Given the description of an element on the screen output the (x, y) to click on. 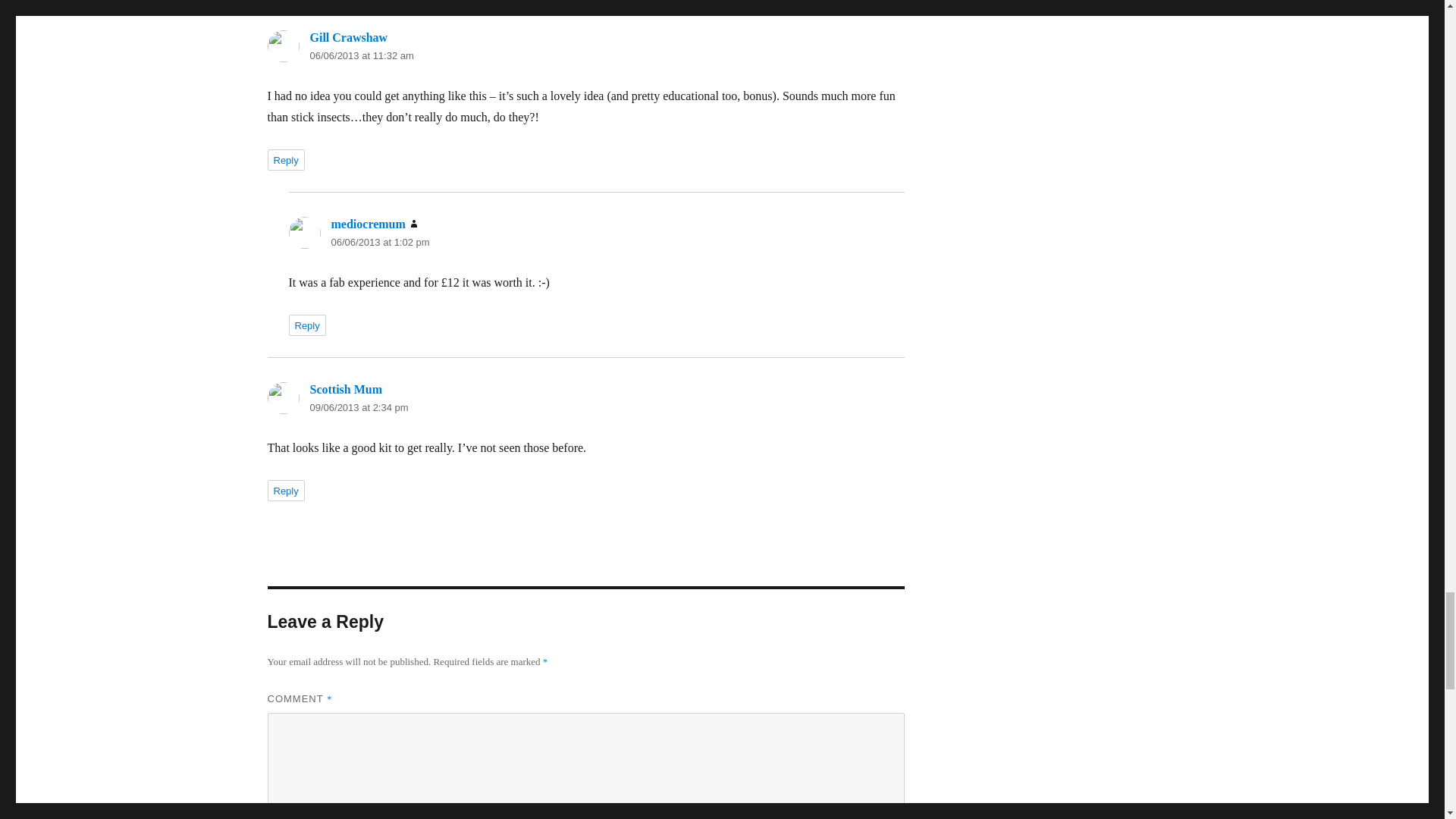
Gill Crawshaw (347, 37)
Reply (285, 159)
Scottish Mum (344, 389)
Reply (285, 490)
mediocremum (367, 223)
Reply (306, 324)
